Given the description of an element on the screen output the (x, y) to click on. 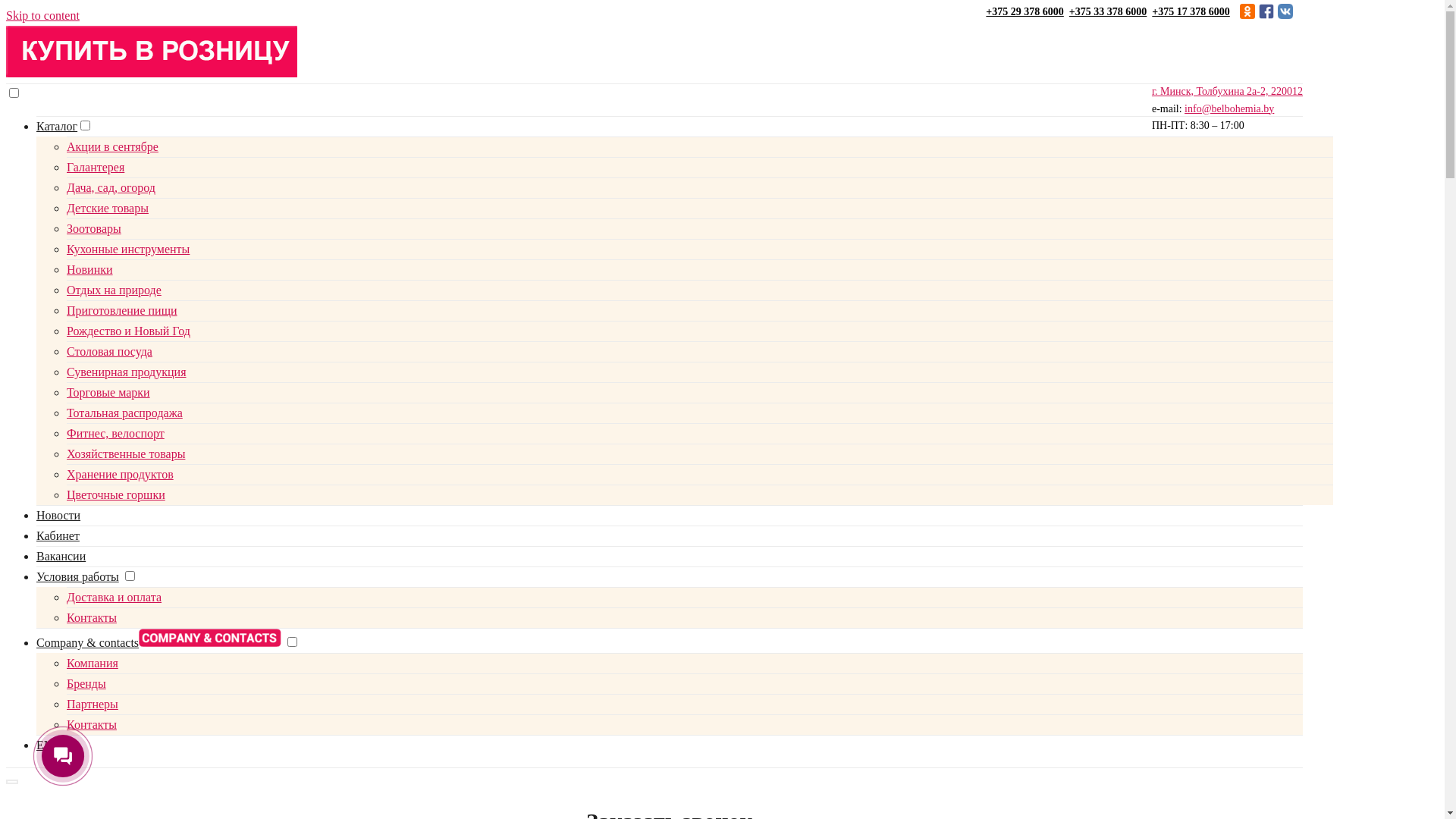
+375 29 378 6000 Element type: text (1025, 11)
info@belbohemia.by Element type: text (1229, 108)
ENG Element type: text (48, 744)
Company & contacts Element type: text (158, 642)
+375 33 378 6000 Element type: text (1108, 11)
Skip to content Element type: text (42, 15)
+375 17 378 6000 Element type: text (1191, 11)
